Given the description of an element on the screen output the (x, y) to click on. 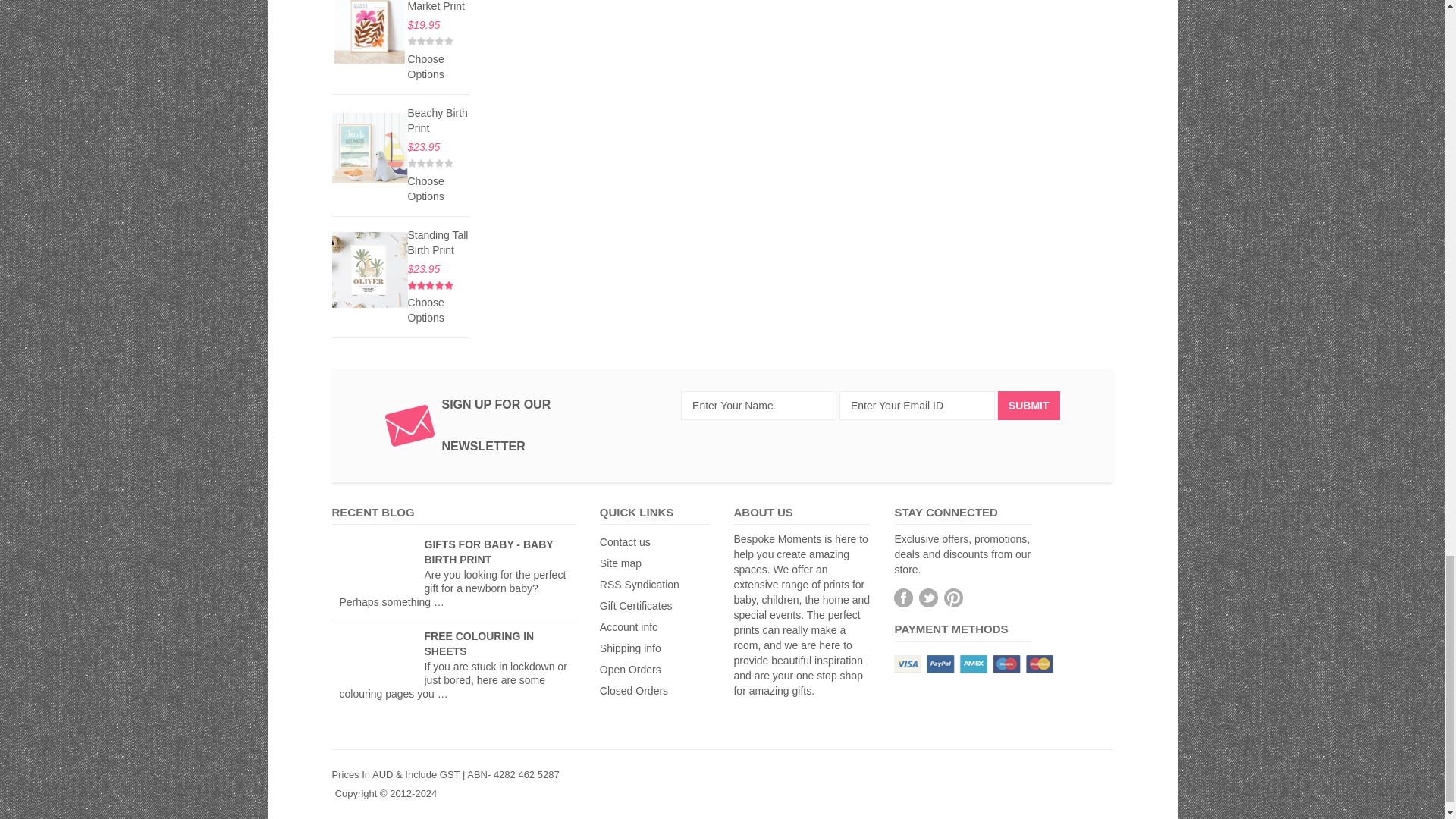
Facebook (902, 597)
Twitter (927, 597)
Enter Your Name (758, 405)
Pinterest (952, 597)
Enter Your Email ID (917, 405)
Submit (1028, 405)
